Given the description of an element on the screen output the (x, y) to click on. 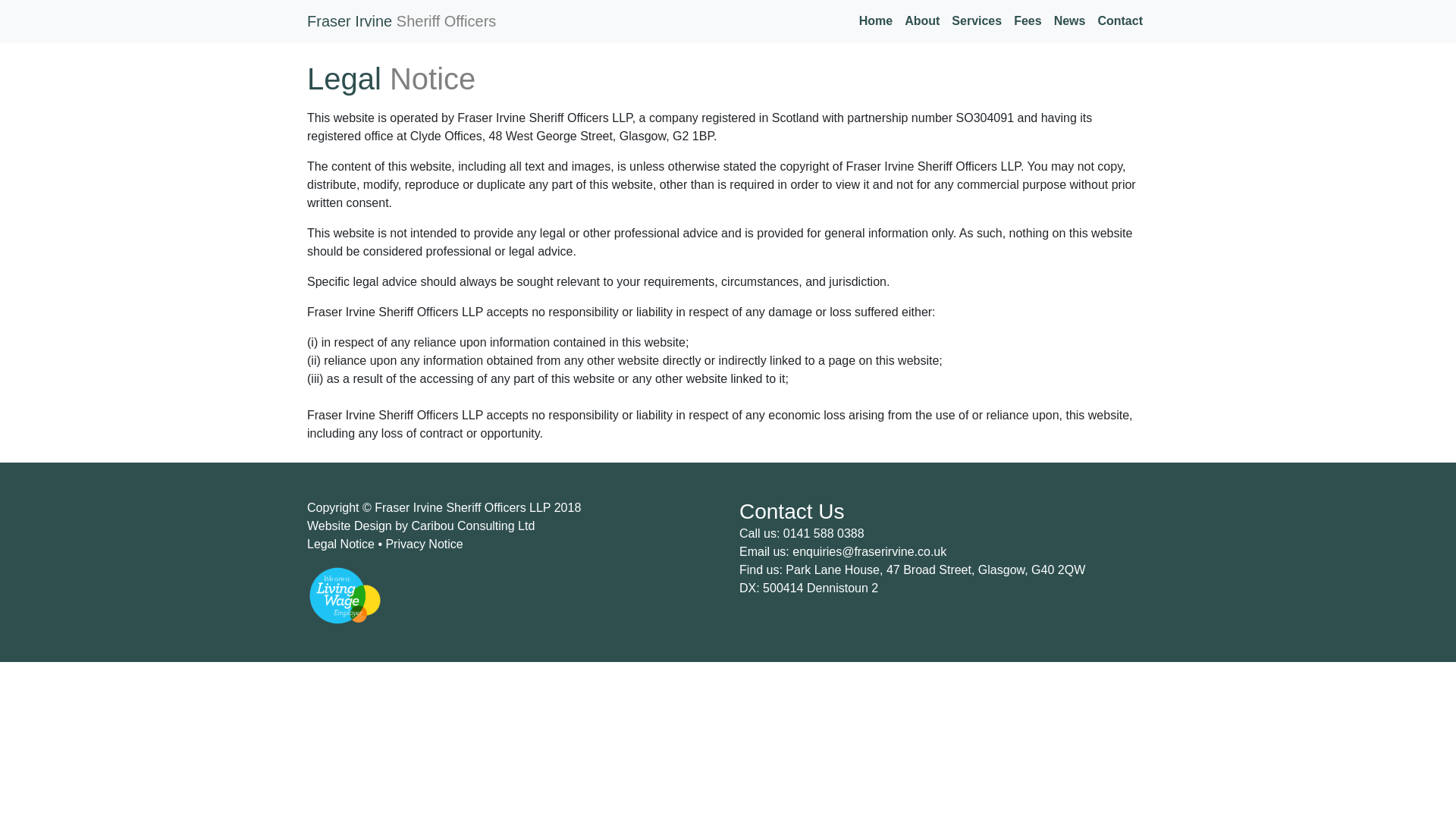
About (921, 20)
Privacy Notice (422, 543)
Fraser Irvine Sheriff Officers (401, 20)
Home (875, 20)
News (1070, 20)
Contact (1119, 20)
Legal Notice (342, 543)
Services (975, 20)
Website Design by Caribou Consulting Ltd (420, 525)
Fees (1026, 20)
